Given the description of an element on the screen output the (x, y) to click on. 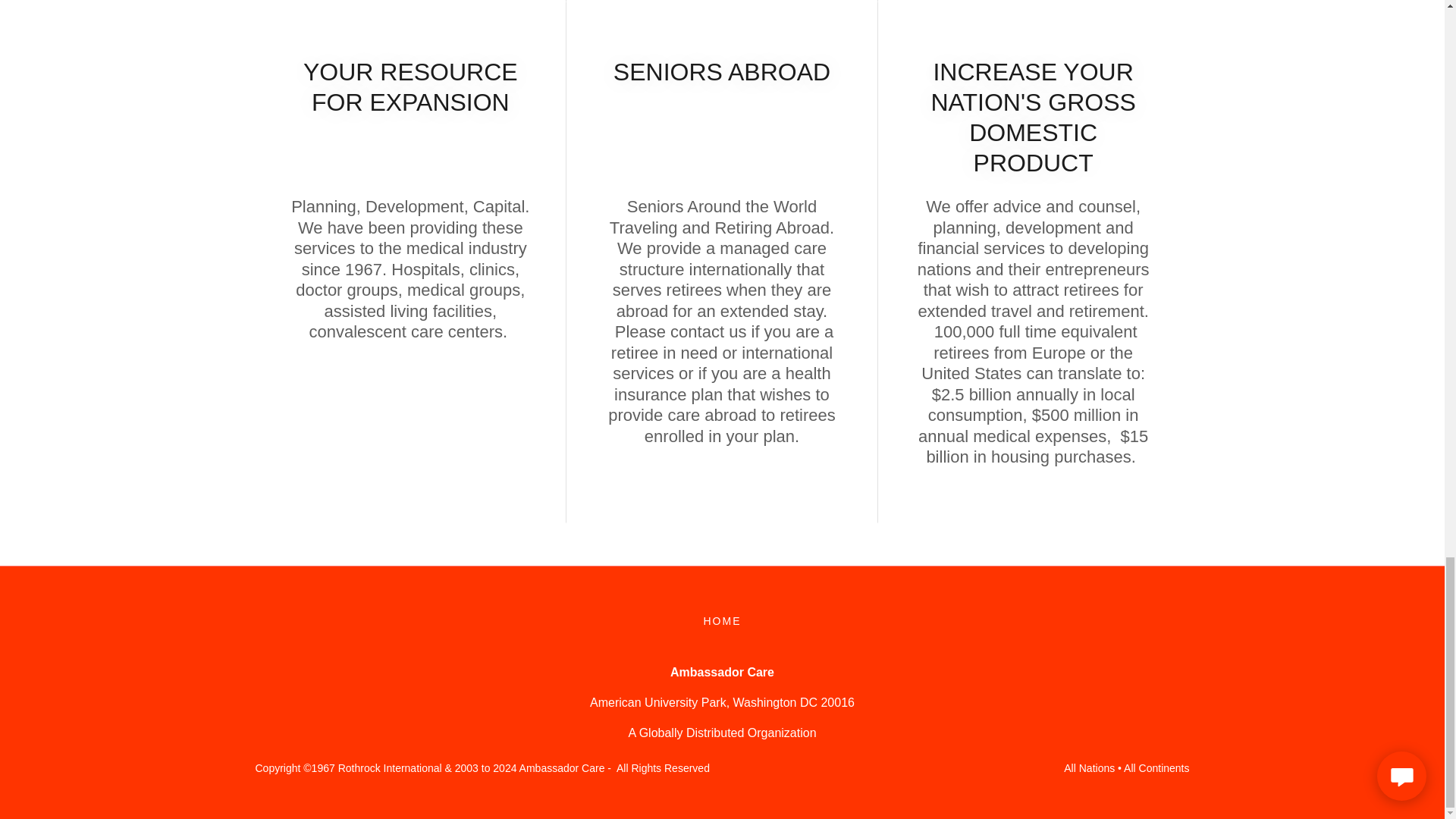
HOME (721, 621)
